Given the description of an element on the screen output the (x, y) to click on. 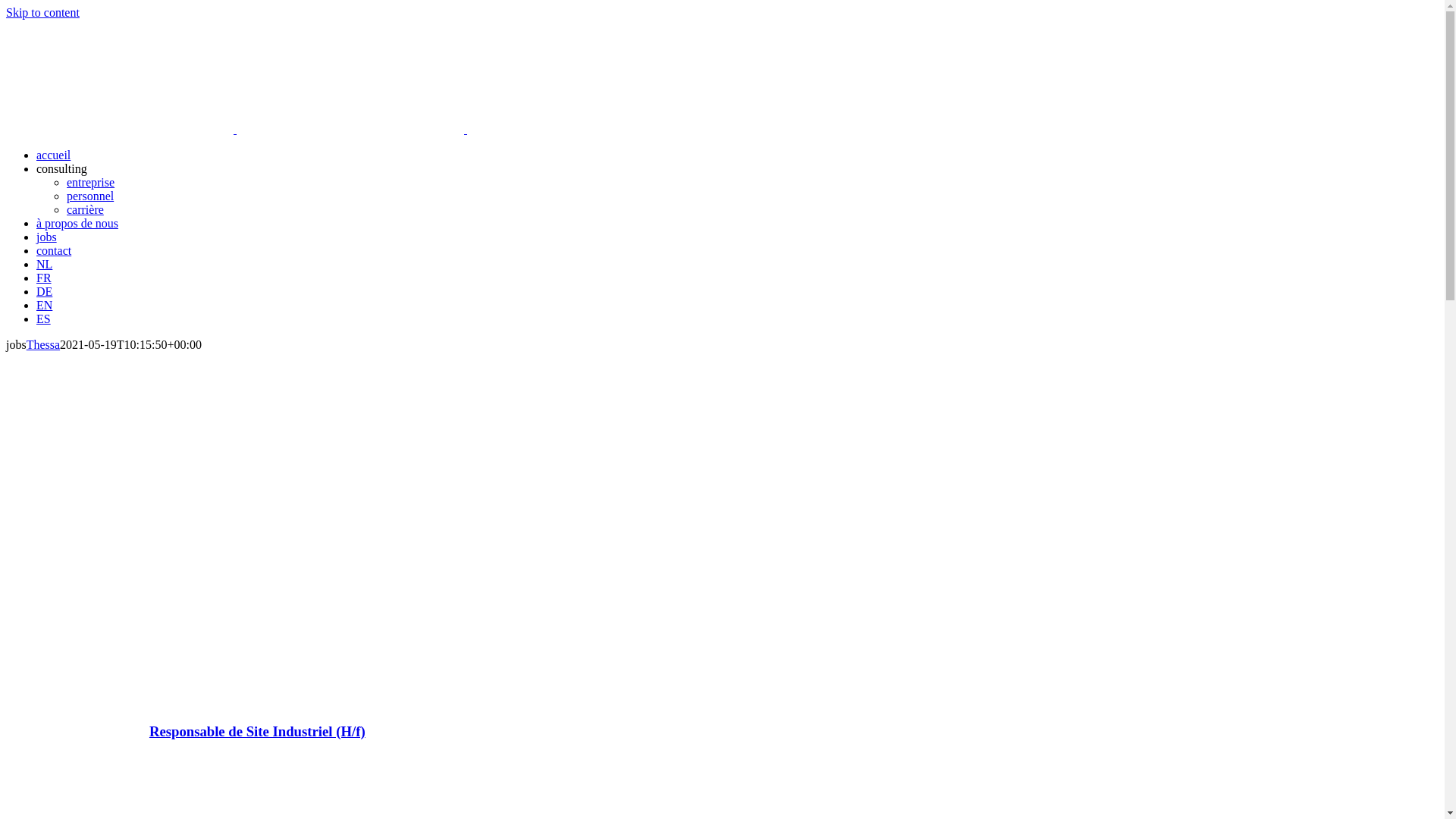
entreprise Element type: text (90, 181)
contact Element type: text (53, 250)
NL Element type: text (44, 263)
accueil Element type: text (53, 154)
personnel Element type: text (89, 195)
ES Element type: text (43, 318)
EN Element type: text (44, 304)
jobs Element type: text (46, 236)
FR Element type: text (43, 277)
Thessa Element type: text (42, 344)
consulting Element type: text (61, 168)
Skip to content Element type: text (42, 12)
DE Element type: text (44, 291)
Responsable de Site Industriel (H/f) Element type: text (257, 731)
